Given the description of an element on the screen output the (x, y) to click on. 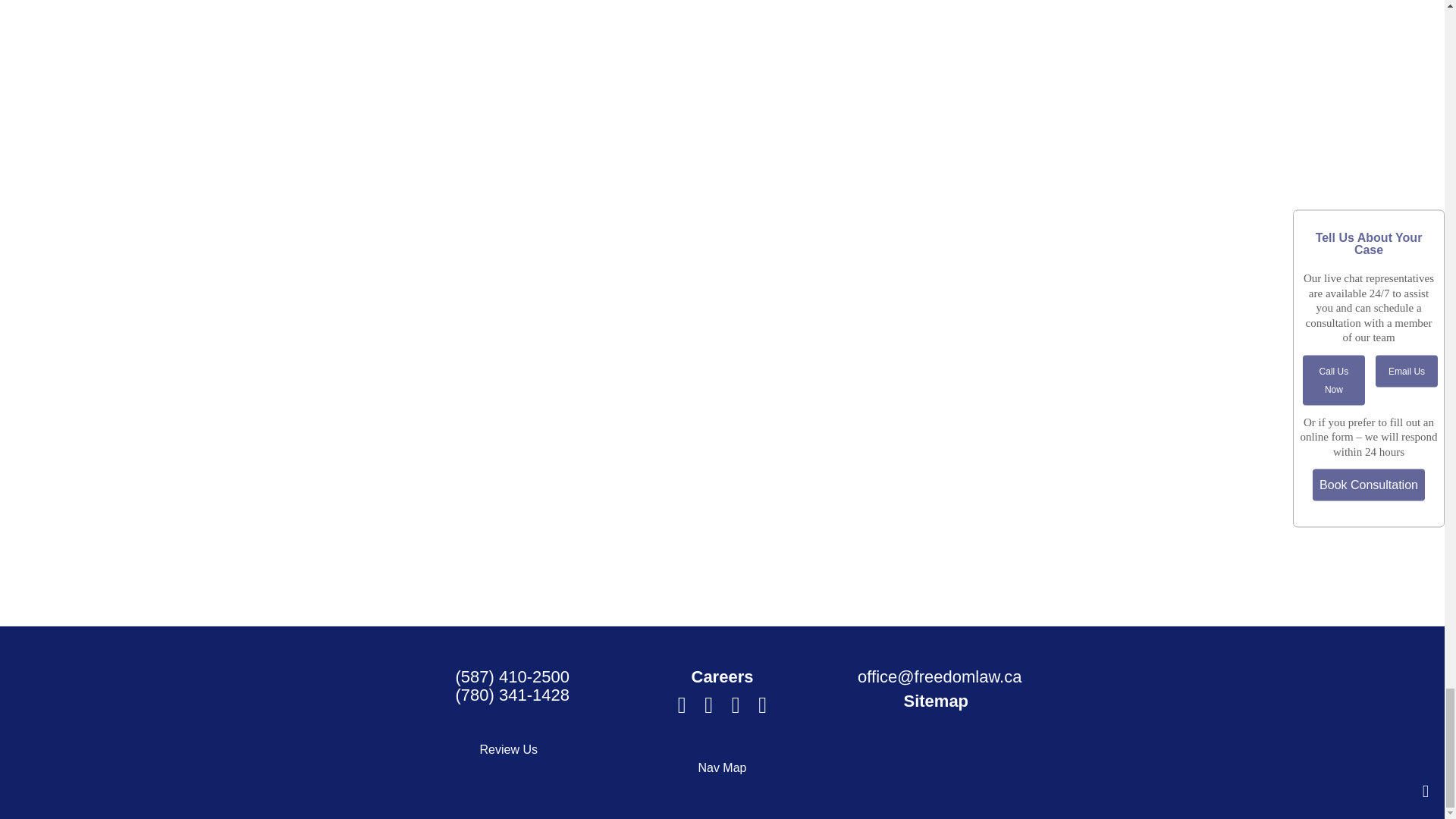
Connect on Facebook (681, 707)
Nav Map (721, 767)
Visit our YouTube page (735, 707)
View Google Maps (708, 707)
